Given the description of an element on the screen output the (x, y) to click on. 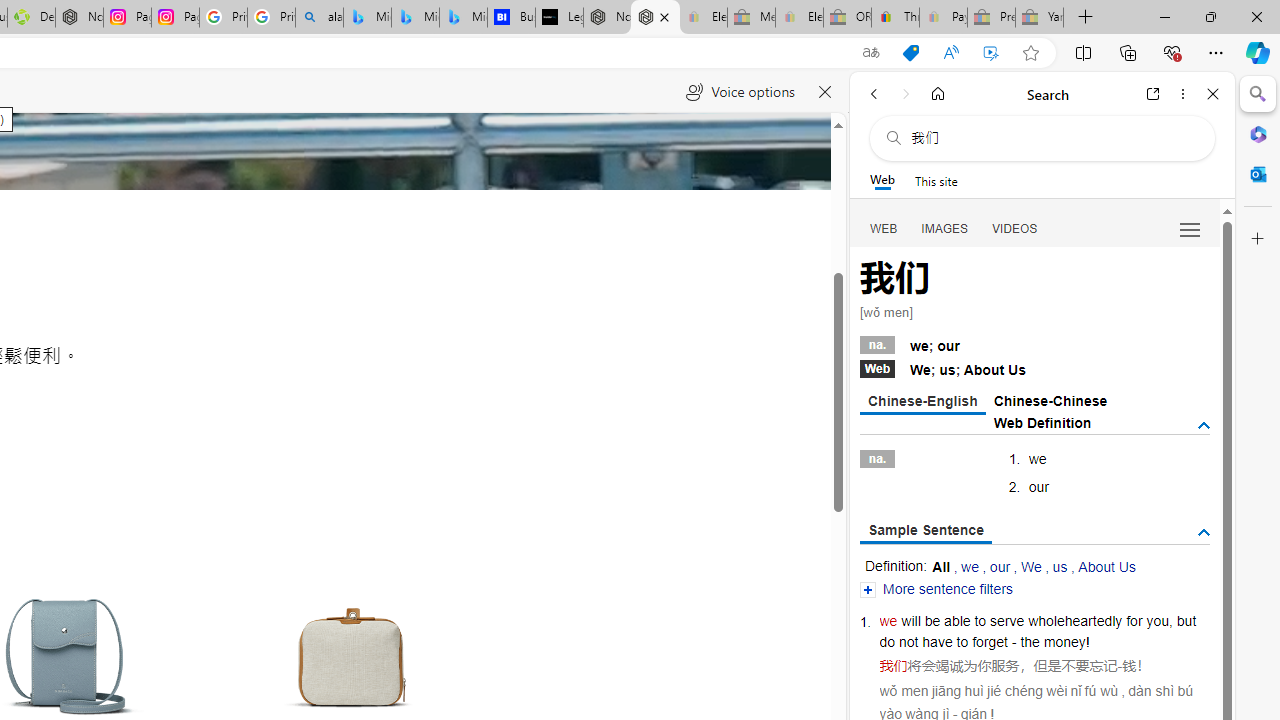
Threats and offensive language policy | eBay (895, 17)
This site has coupons! Shopping in Microsoft Edge (910, 53)
Enhance video (991, 53)
Show translate options (870, 53)
- (1119, 665)
be (932, 620)
Chinese-Chinese (1050, 400)
